Given the description of an element on the screen output the (x, y) to click on. 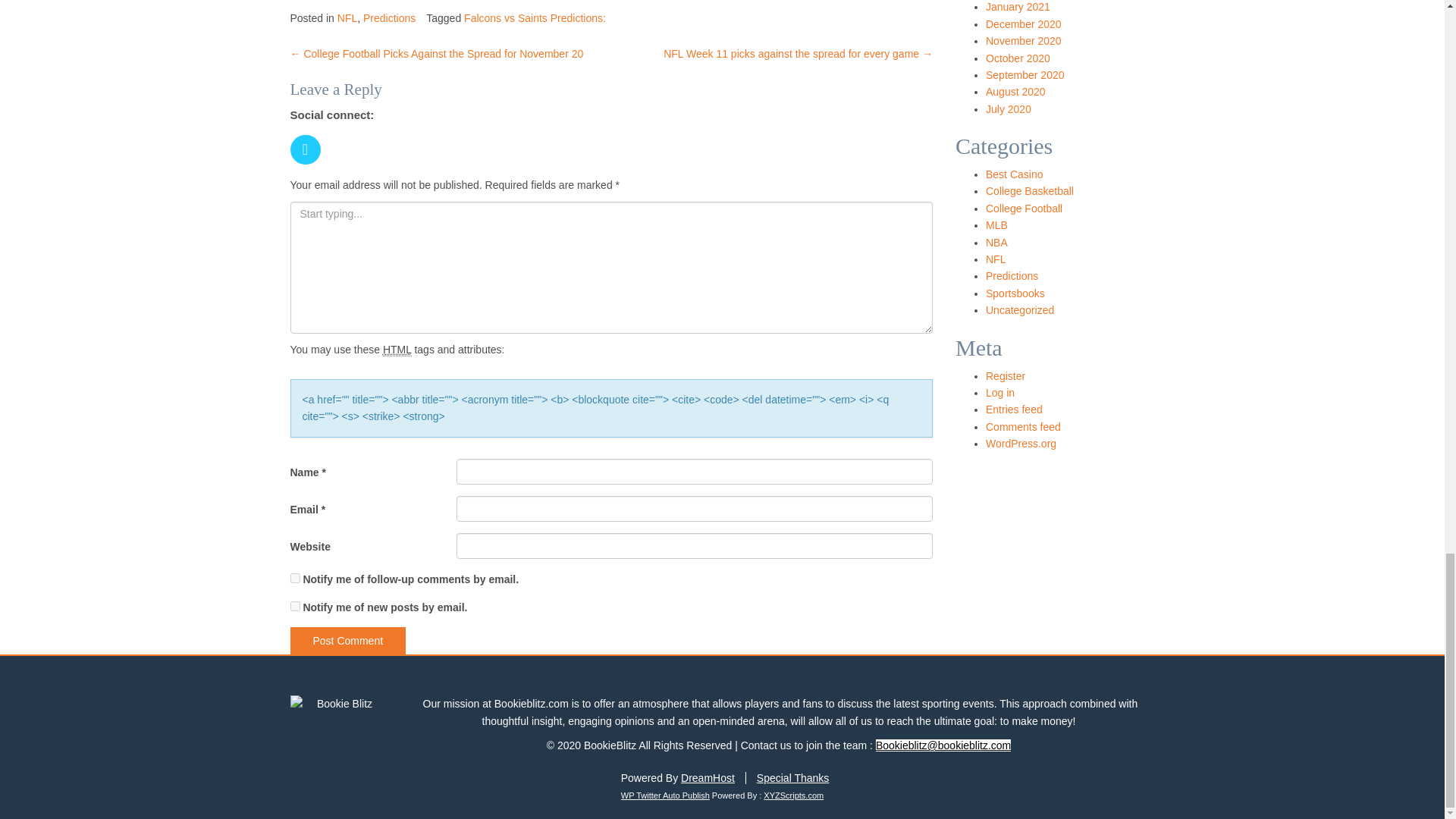
subscribe (294, 578)
Login with twitter (308, 168)
WP Twitter Auto Publish (665, 795)
subscribe (294, 605)
HyperText Markup Language (397, 349)
Post Comment (347, 640)
